Given the description of an element on the screen output the (x, y) to click on. 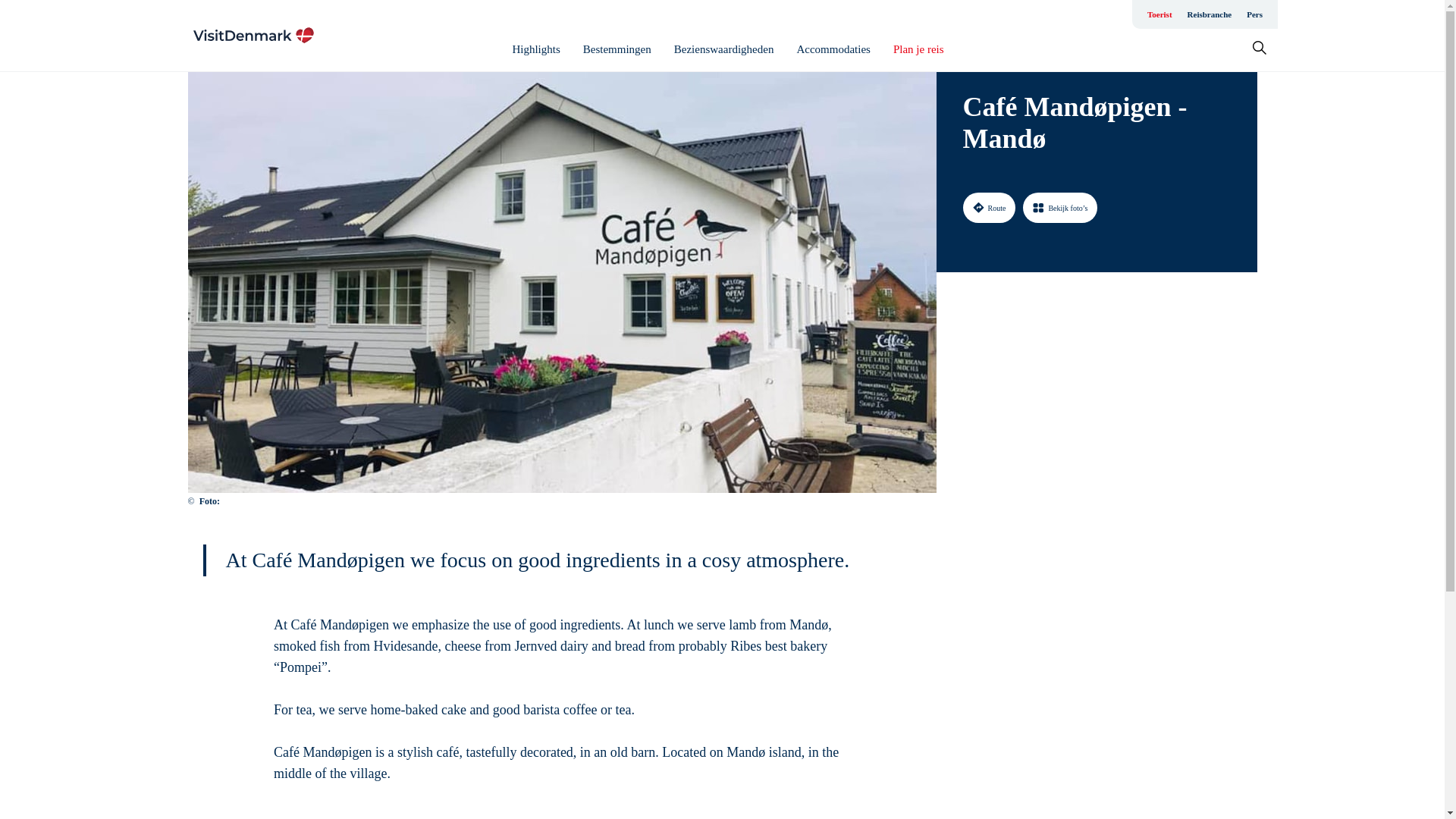
Highlights (535, 49)
Reisbranche (1209, 14)
Go to homepage (253, 35)
Toerist (1159, 14)
Plan je reis (918, 49)
Bezienswaardigheden (724, 49)
Accommodaties (832, 49)
Bestemmingen (616, 49)
Pers (1254, 14)
Route (989, 207)
